Given the description of an element on the screen output the (x, y) to click on. 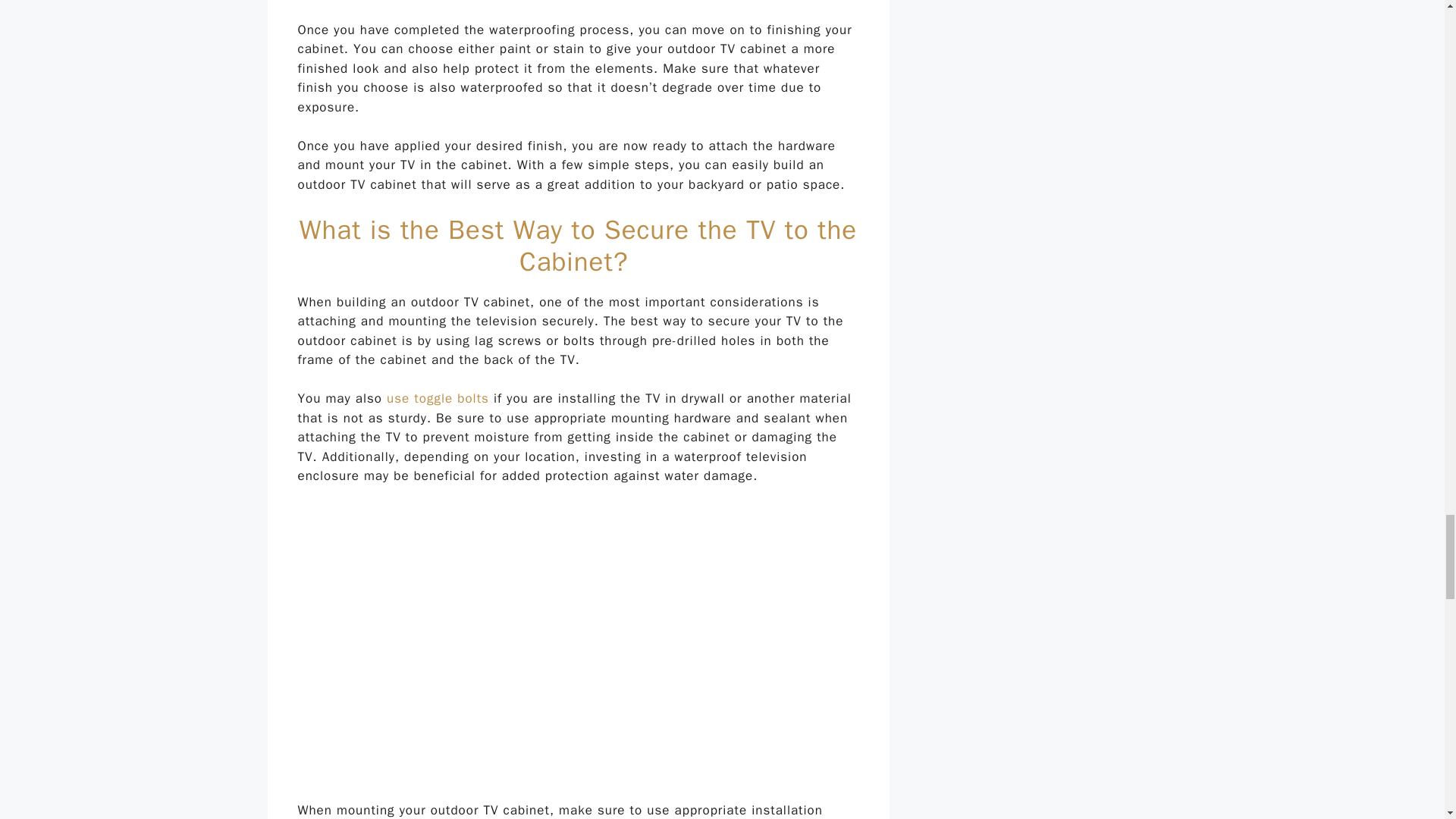
use toggle bolts (437, 398)
